Given the description of an element on the screen output the (x, y) to click on. 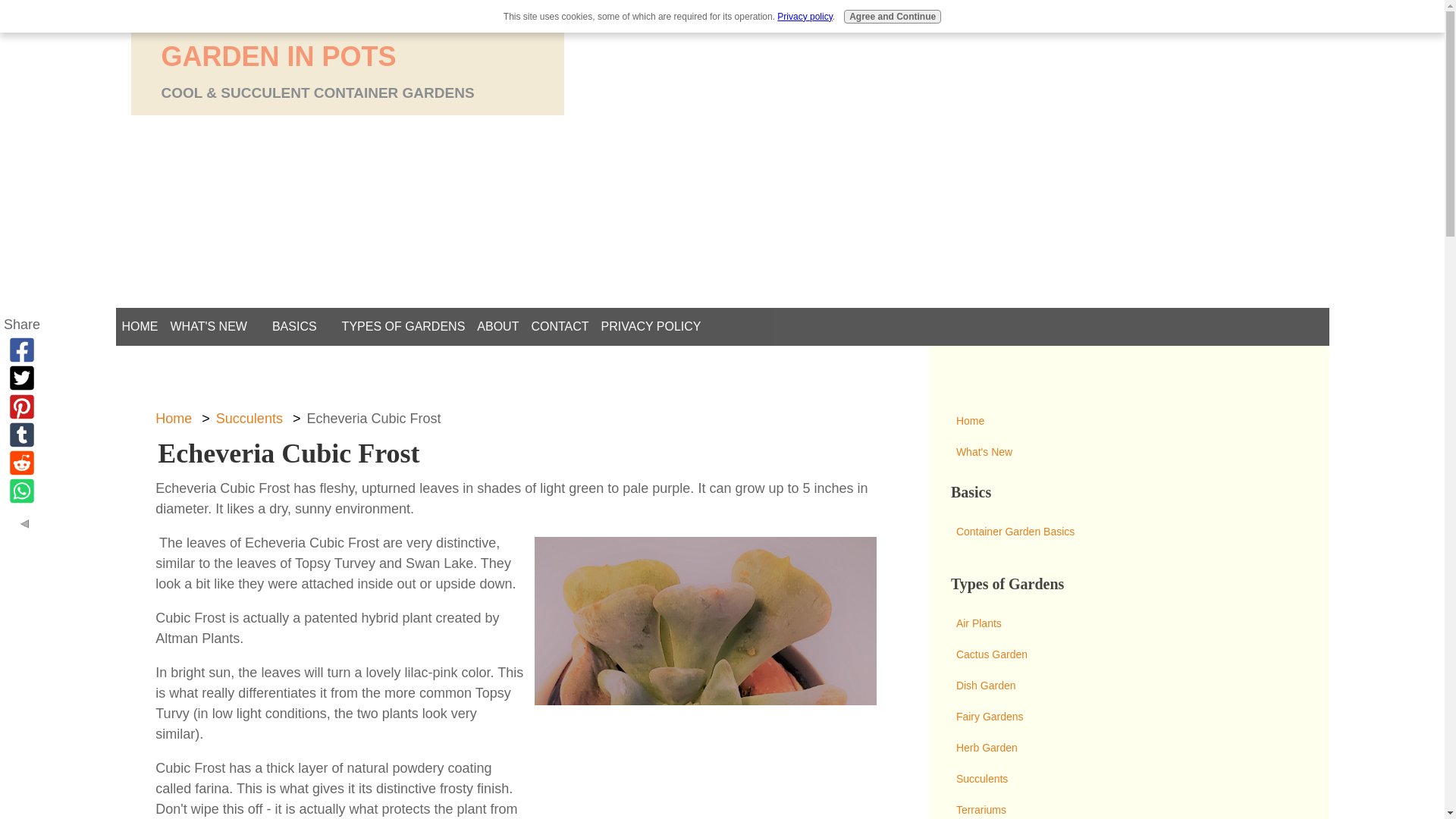
ABOUT (497, 326)
Cactus Garden (1128, 654)
Air Plants (1128, 623)
Home (173, 418)
CONTACT (559, 326)
PRIVACY POLICY (651, 326)
Succulents (248, 418)
Dish Garden (1128, 685)
Fairy Gardens (1128, 716)
HOME (139, 326)
What's New (1128, 451)
Container Garden Basics (1128, 531)
Succulents (1128, 778)
Home (1128, 420)
WHAT'S NEW (207, 326)
